Given the description of an element on the screen output the (x, y) to click on. 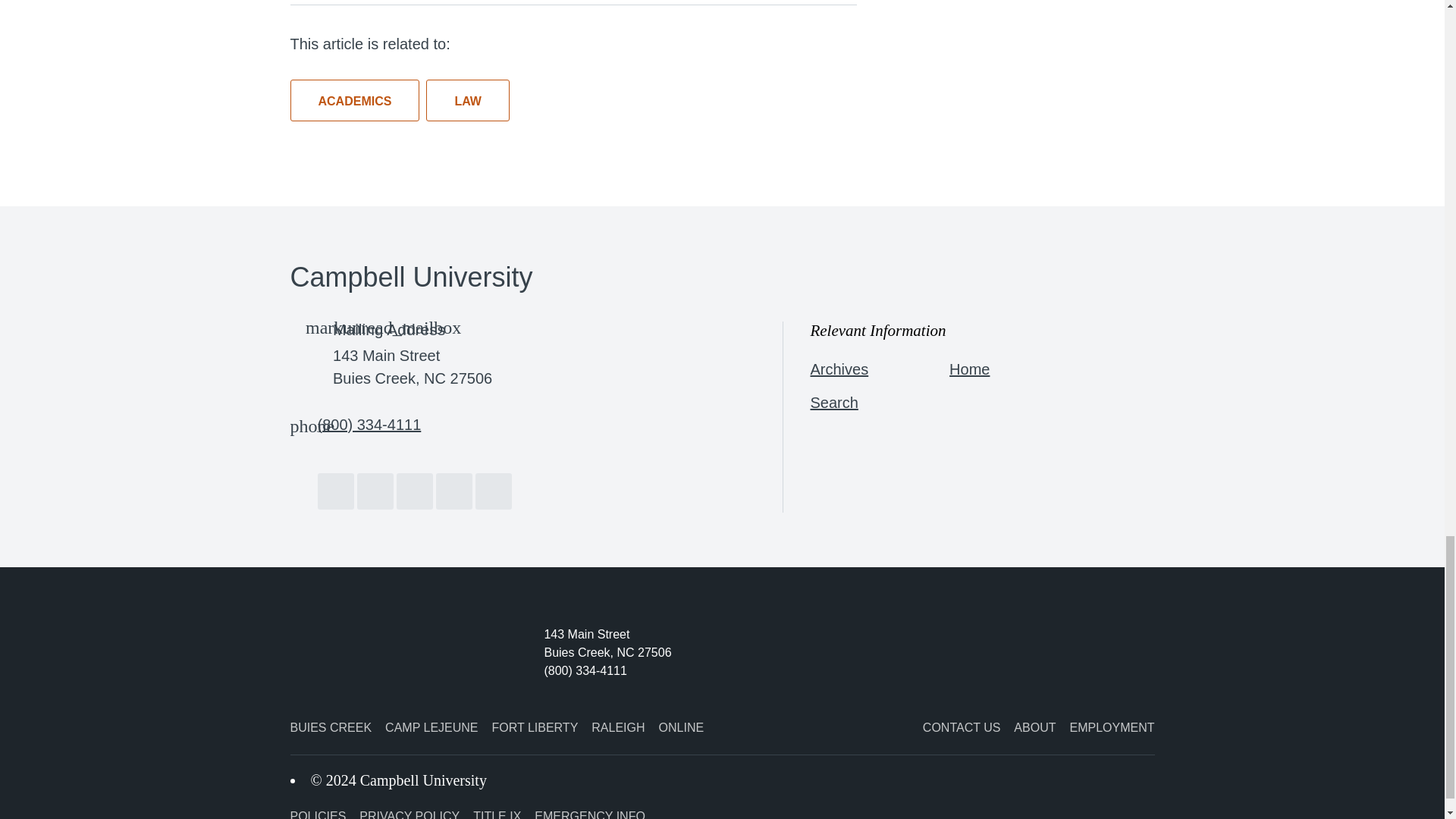
ACADEMICS (354, 100)
LAW (467, 100)
Follow Campbell University on Facebook (335, 491)
Follow Campbell University on Twitter (374, 491)
